Given the description of an element on the screen output the (x, y) to click on. 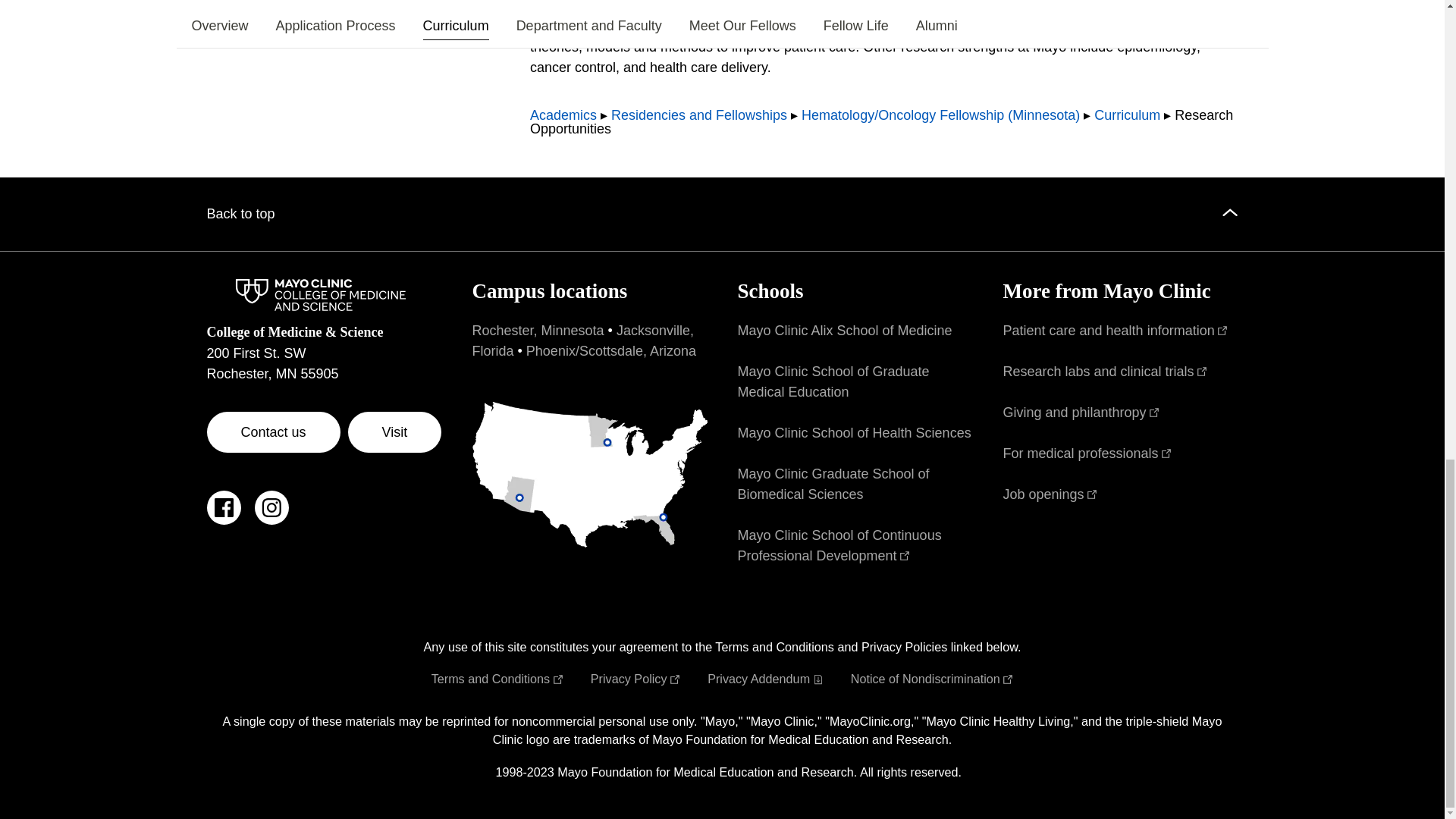
College of Medicine and Science Instagram (271, 515)
Back to top of page (722, 213)
College of Medicine and Science Facebook (223, 515)
